Given the description of an element on the screen output the (x, y) to click on. 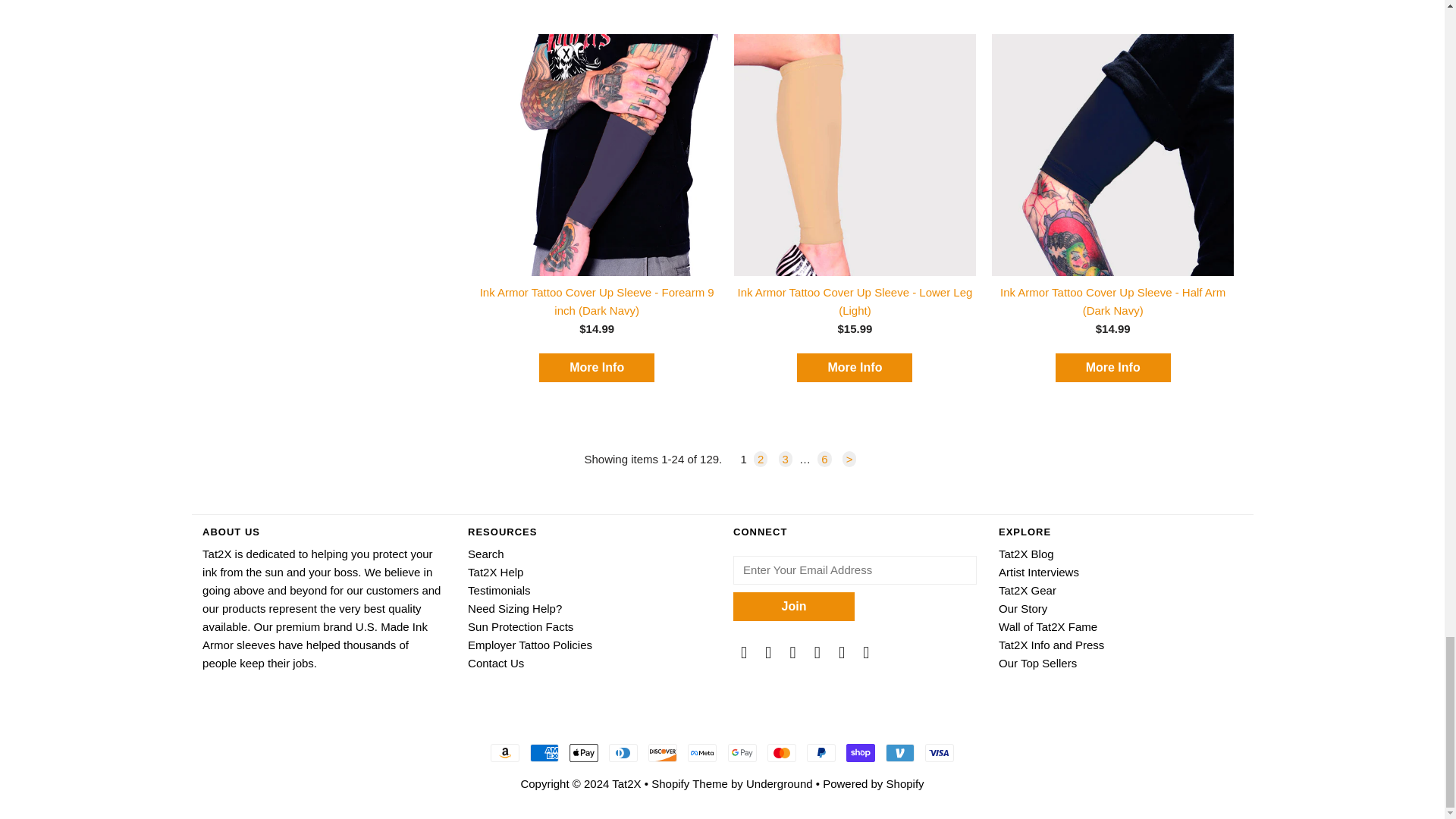
Join (793, 606)
